Given the description of an element on the screen output the (x, y) to click on. 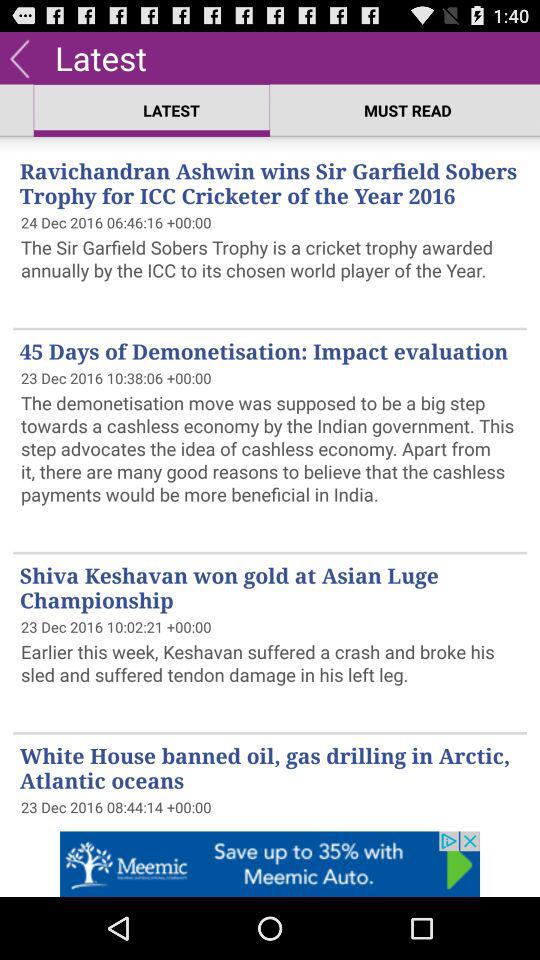
electrical add (270, 864)
